Given the description of an element on the screen output the (x, y) to click on. 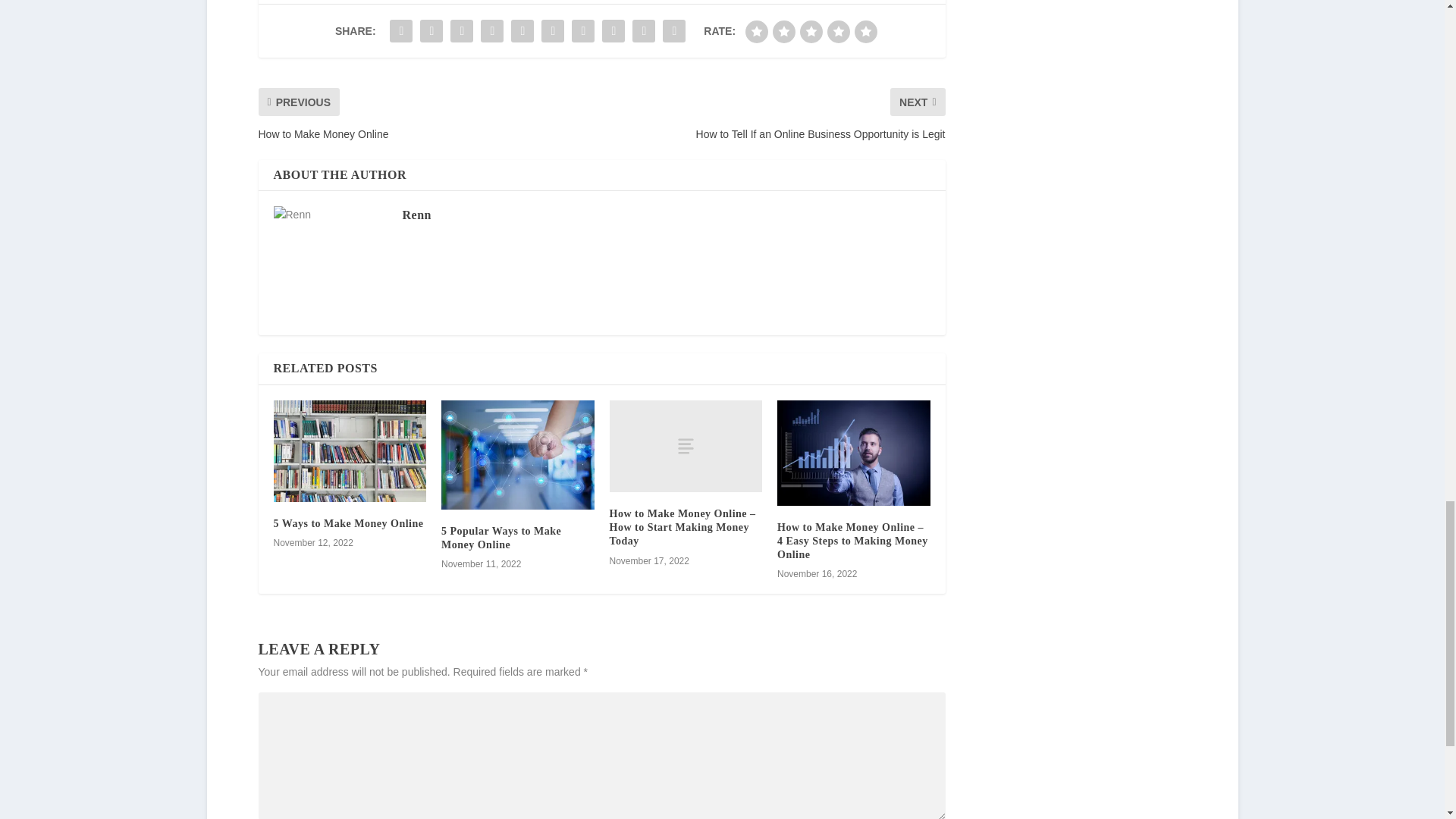
Share "Different Ways To Make Money Online" via LinkedIn (552, 30)
Share "Different Ways To Make Money Online" via Twitter (431, 30)
Renn (415, 214)
5 Ways to Make Money Online (348, 523)
Share "Different Ways To Make Money Online" via Pinterest (521, 30)
Share "Different Ways To Make Money Online" via Facebook (400, 30)
Share "Different Ways To Make Money Online" via Tumblr (491, 30)
Share "Different Ways To Make Money Online" via Buffer (582, 30)
